Given the description of an element on the screen output the (x, y) to click on. 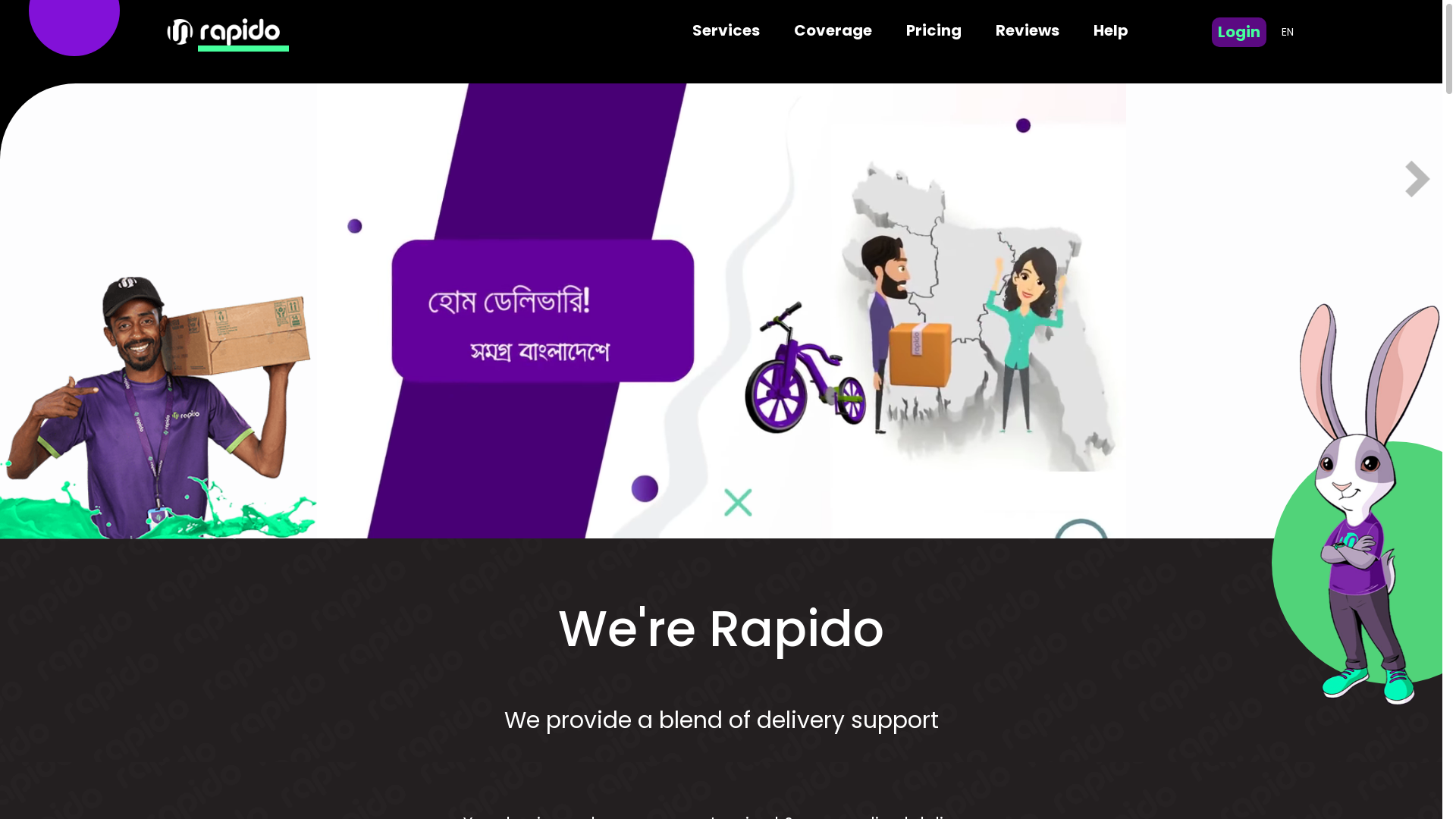
Coverage Element type: text (832, 31)
Help Element type: text (1110, 31)
Services Element type: text (725, 31)
Reviews Element type: text (1027, 31)
Pricing Element type: text (933, 31)
Login Element type: text (1238, 31)
